Given the description of an element on the screen output the (x, y) to click on. 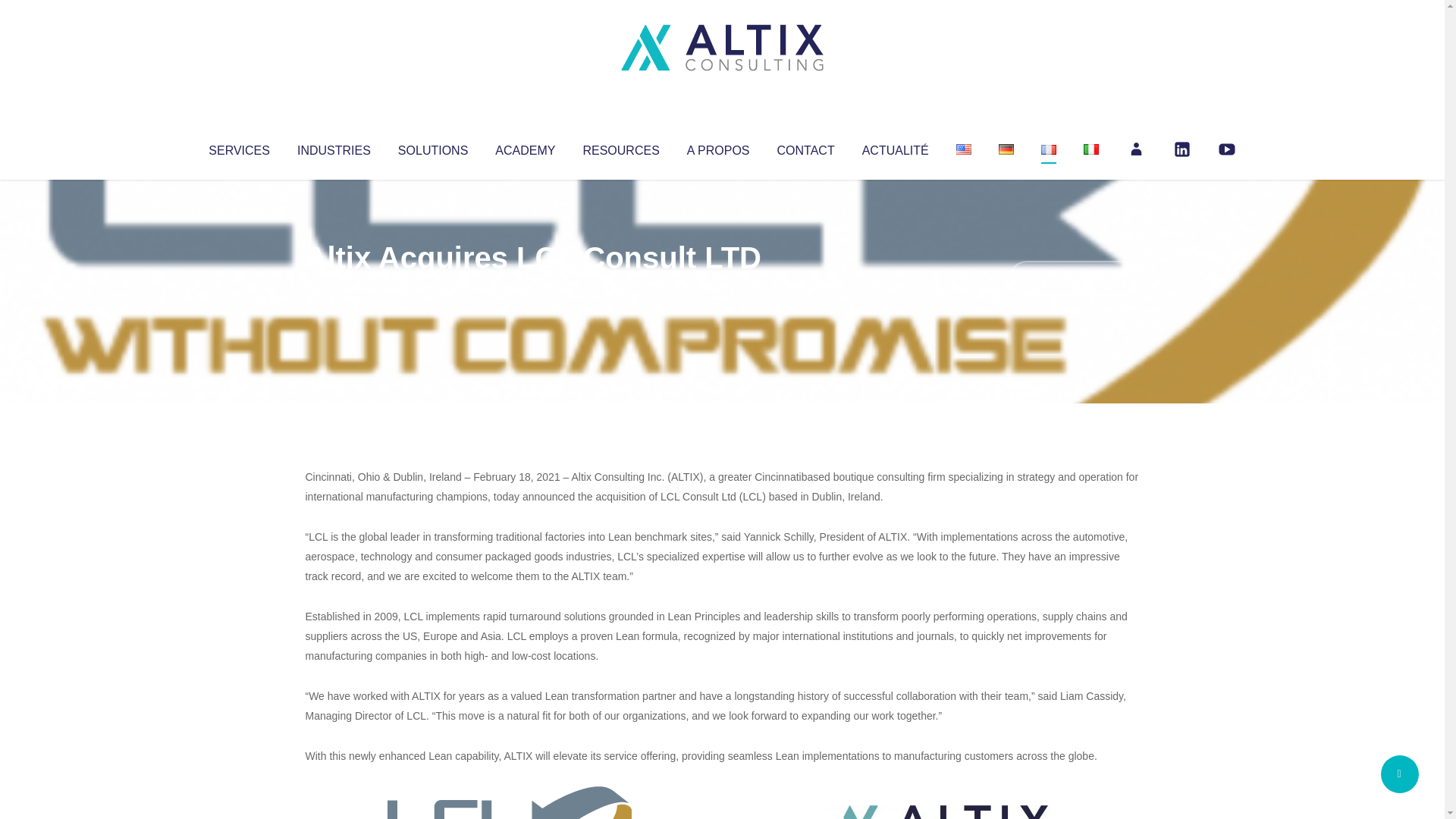
Uncategorized (530, 287)
ACADEMY (524, 146)
SOLUTIONS (432, 146)
RESOURCES (620, 146)
No Comments (1073, 278)
Articles par Altix (333, 287)
SERVICES (238, 146)
Altix (333, 287)
A PROPOS (718, 146)
INDUSTRIES (334, 146)
